Given the description of an element on the screen output the (x, y) to click on. 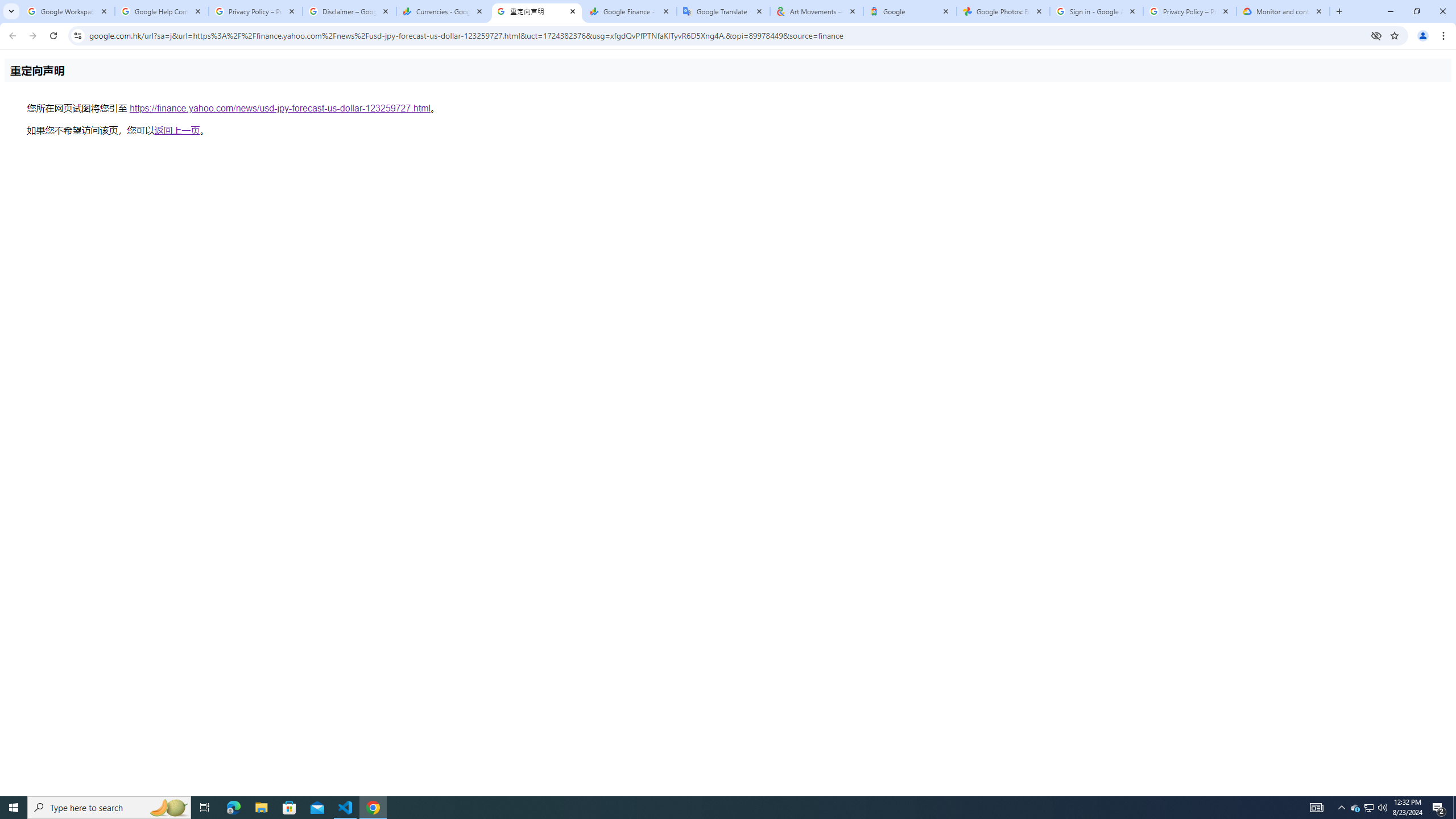
Currencies - Google Finance (443, 11)
Google Workspace Admin Community (67, 11)
Google (909, 11)
